Given the description of an element on the screen output the (x, y) to click on. 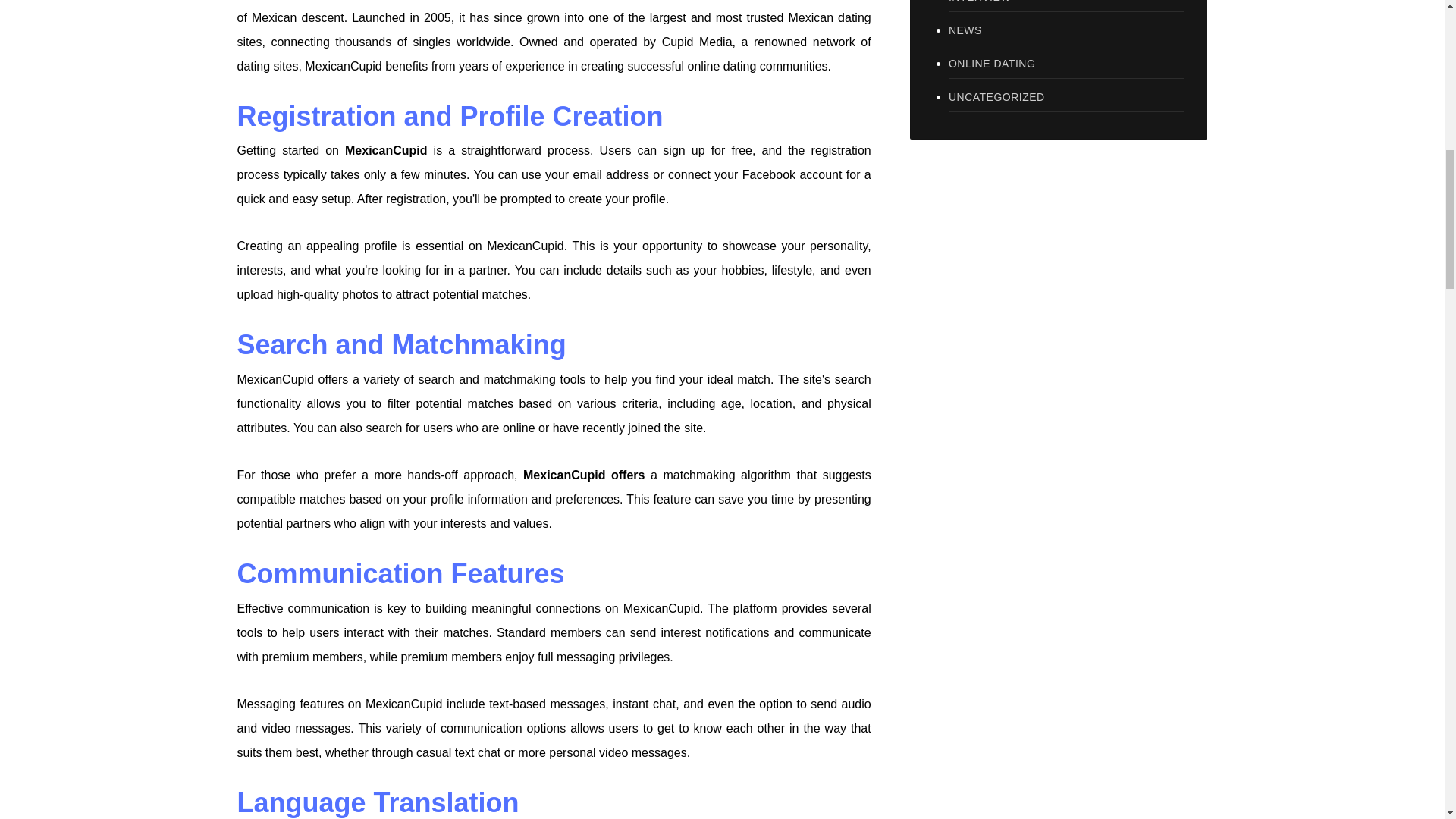
NEWS (1066, 30)
ONLINE DATING (1066, 63)
INTERVIEW (1066, 6)
UNCATEGORIZED (1066, 97)
